Given the description of an element on the screen output the (x, y) to click on. 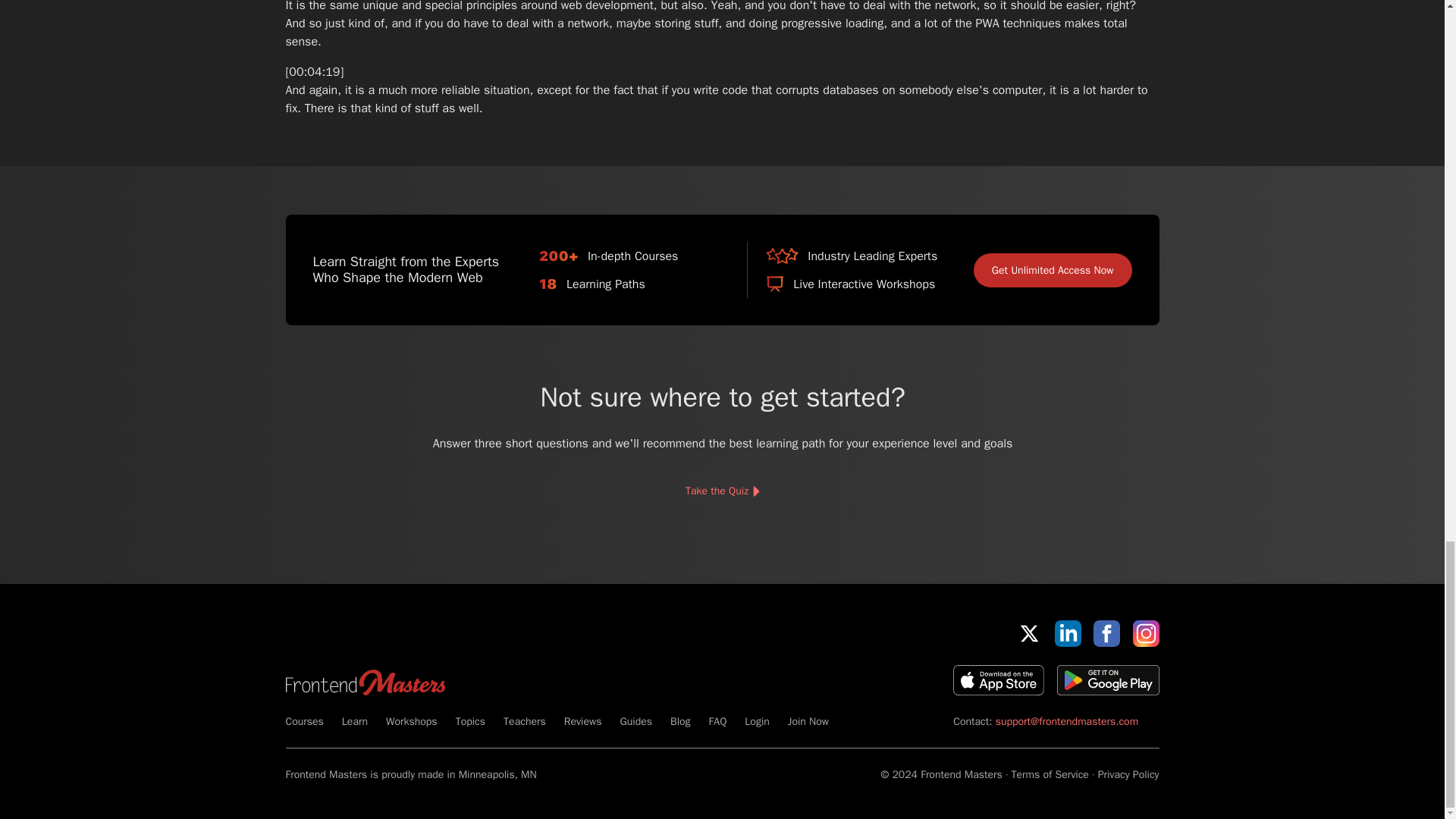
Topics (469, 721)
Courses (304, 721)
Guides (636, 721)
Learn (355, 721)
Get Unlimited Access Now (1053, 270)
Workshops (411, 721)
Login (756, 721)
FrontendMasters (364, 682)
FAQ (717, 721)
Instagram (1145, 633)
Join Now (807, 721)
Blog (679, 721)
Teachers (524, 721)
Apple App Store (998, 680)
Facebook (1106, 633)
